Given the description of an element on the screen output the (x, y) to click on. 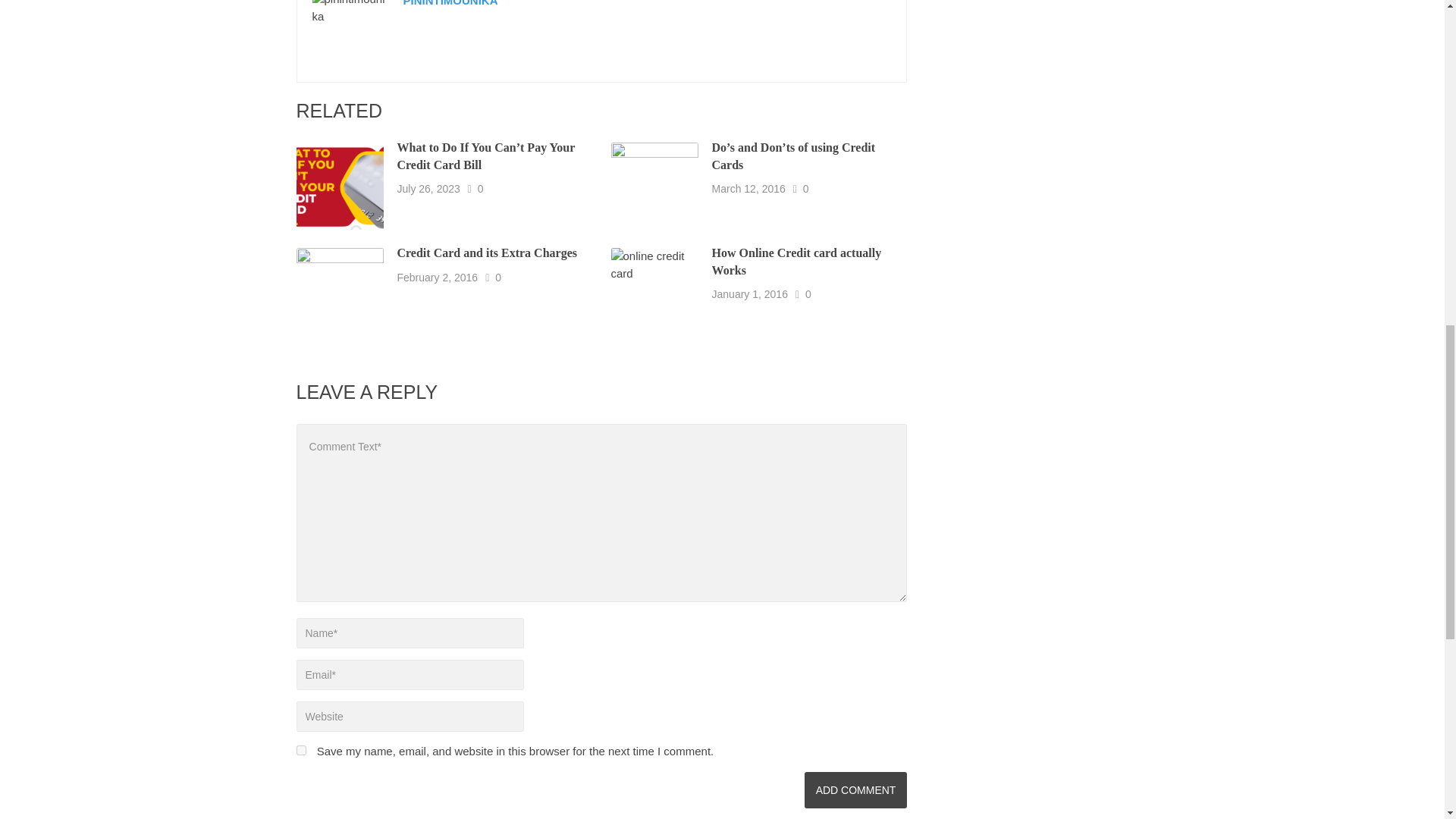
Credit Card and its Extra Charges (486, 252)
How Online Credit card actually Works (796, 261)
Add Comment (856, 790)
yes (300, 750)
Add Comment (856, 790)
0 (497, 277)
Credit Card and its Extra Charges (486, 252)
0 (807, 294)
How Online Credit card actually Works (796, 261)
